Given the description of an element on the screen output the (x, y) to click on. 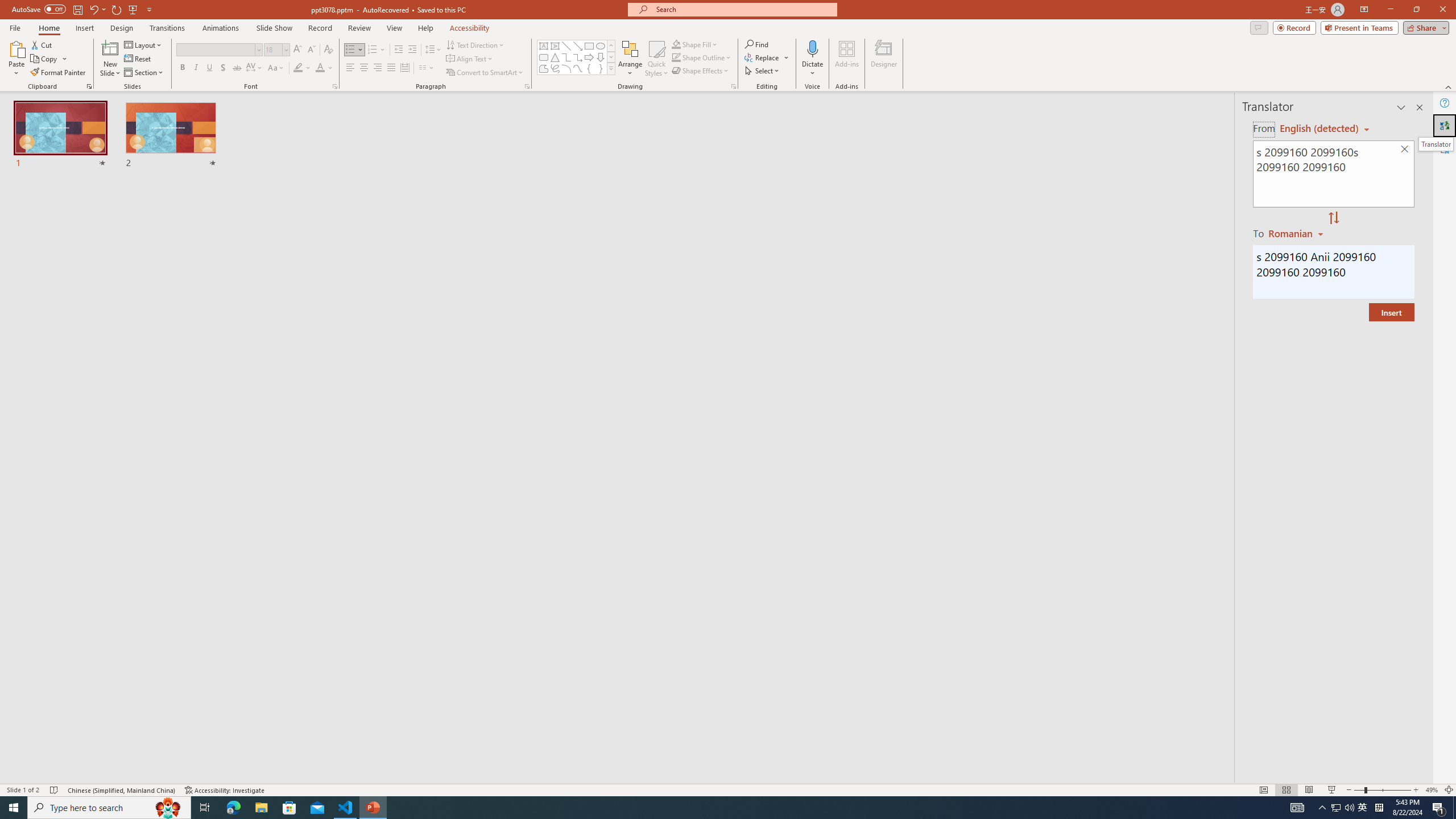
Clear text (1404, 149)
